Given the description of an element on the screen output the (x, y) to click on. 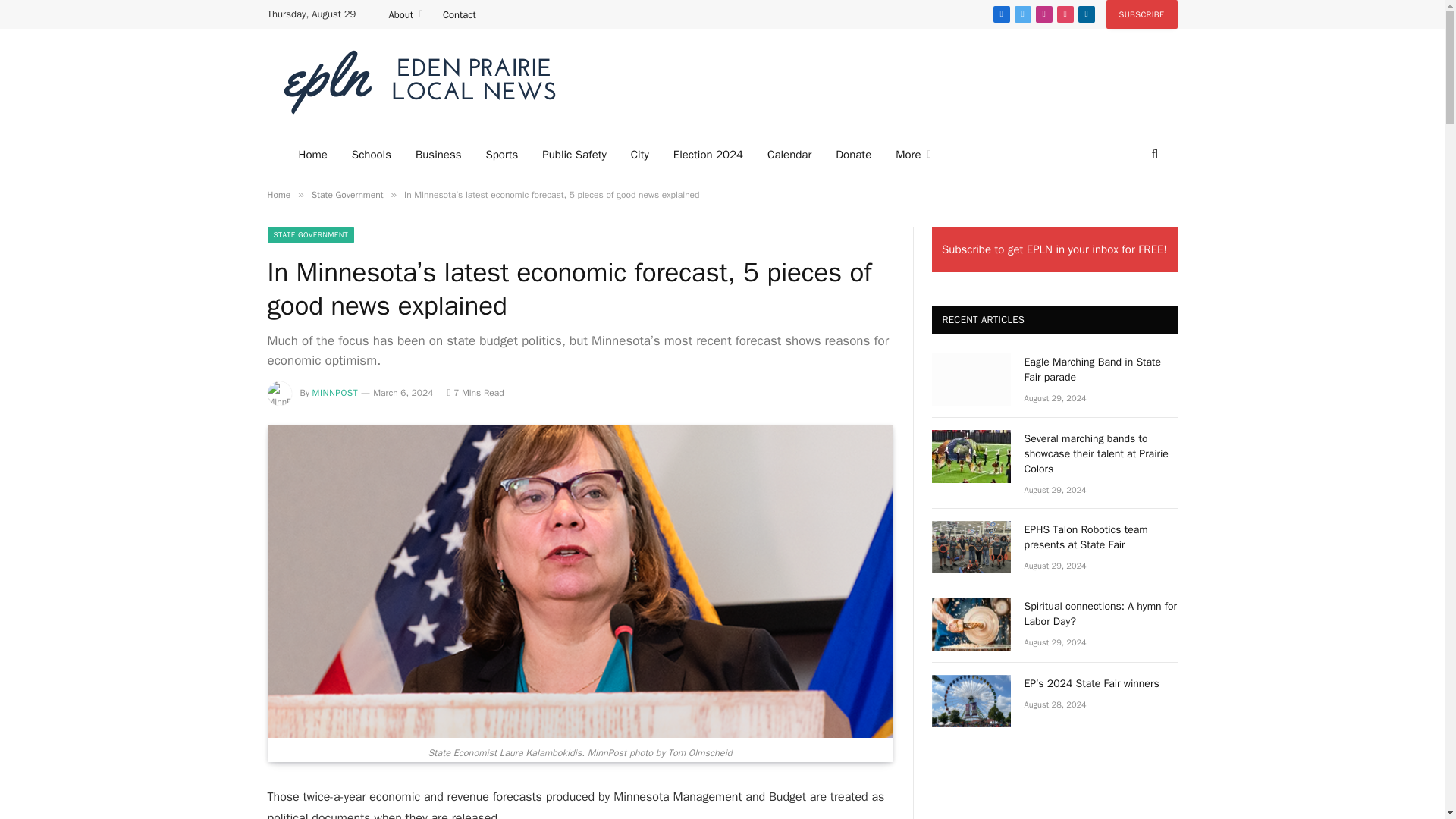
Schools (371, 154)
More (912, 154)
Public Safety (573, 154)
Election 2024 (708, 154)
Calendar (789, 154)
Eden Prairie Local News (418, 81)
Contact (459, 14)
Posts by MinnPost (335, 392)
About (405, 14)
LinkedIn (1086, 13)
